Given the description of an element on the screen output the (x, y) to click on. 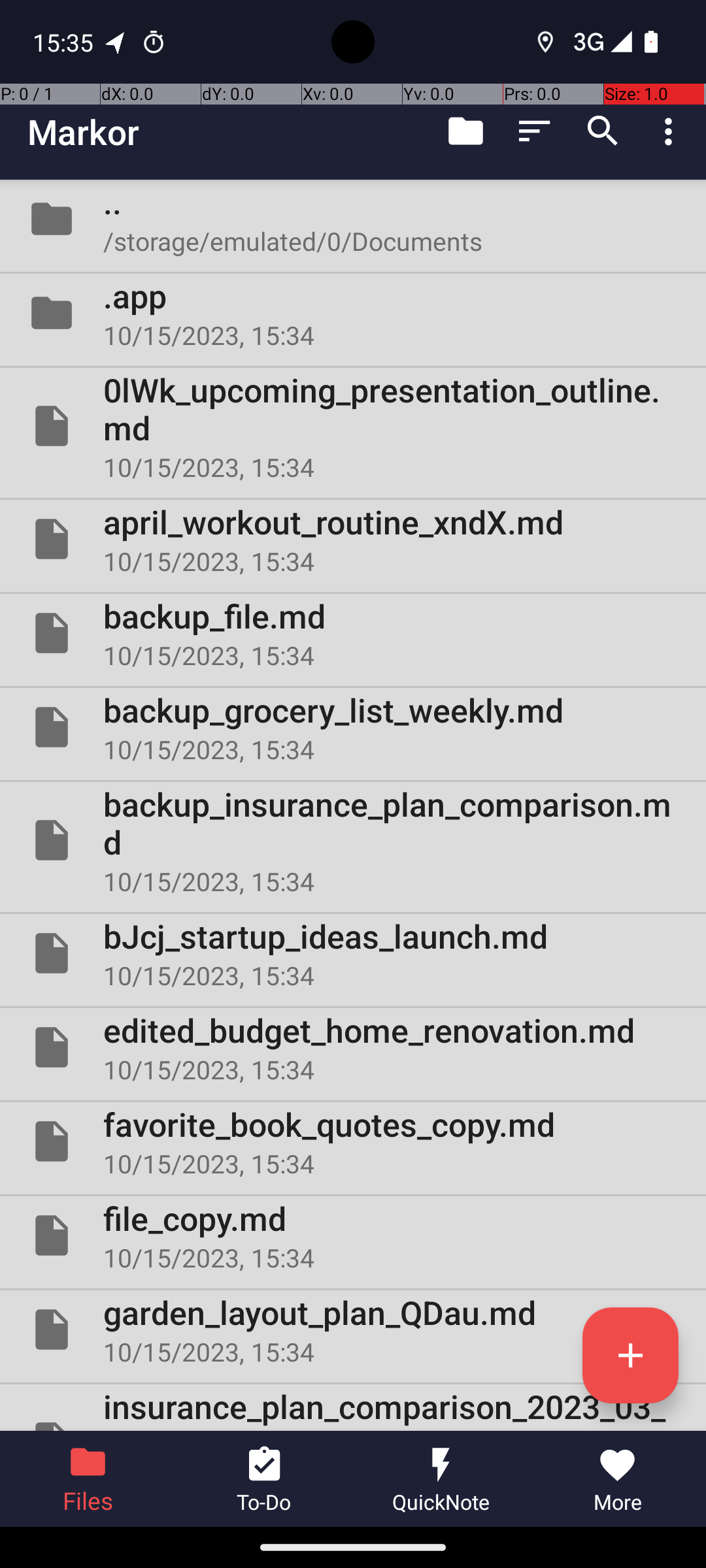
Folder .app  Element type: android.widget.LinearLayout (353, 312)
File 0lWk_upcoming_presentation_outline.md  Element type: android.widget.LinearLayout (353, 425)
File april_workout_routine_xndX.md  Element type: android.widget.LinearLayout (353, 538)
File backup_file.md  Element type: android.widget.LinearLayout (353, 632)
File backup_grocery_list_weekly.md  Element type: android.widget.LinearLayout (353, 726)
File backup_insurance_plan_comparison.md  Element type: android.widget.LinearLayout (353, 840)
File bJcj_startup_ideas_launch.md  Element type: android.widget.LinearLayout (353, 953)
File edited_budget_home_renovation.md  Element type: android.widget.LinearLayout (353, 1047)
File favorite_book_quotes_copy.md  Element type: android.widget.LinearLayout (353, 1141)
File file_copy.md  Element type: android.widget.LinearLayout (353, 1235)
File garden_layout_plan_QDau.md  Element type: android.widget.LinearLayout (353, 1329)
File insurance_plan_comparison_2023_03_26.md  Element type: android.widget.LinearLayout (353, 1407)
